Given the description of an element on the screen output the (x, y) to click on. 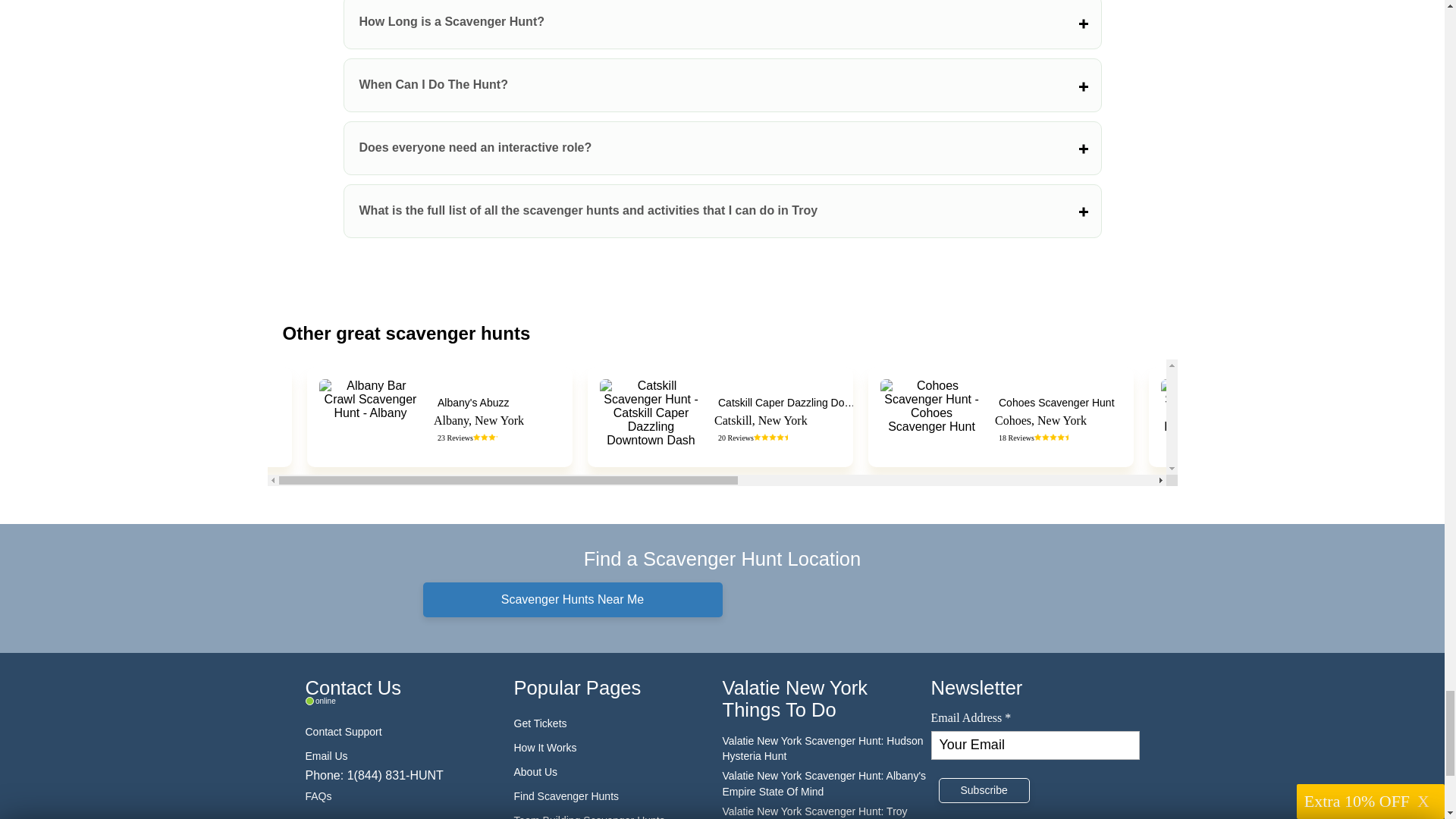
Subscribe (984, 790)
